Given the description of an element on the screen output the (x, y) to click on. 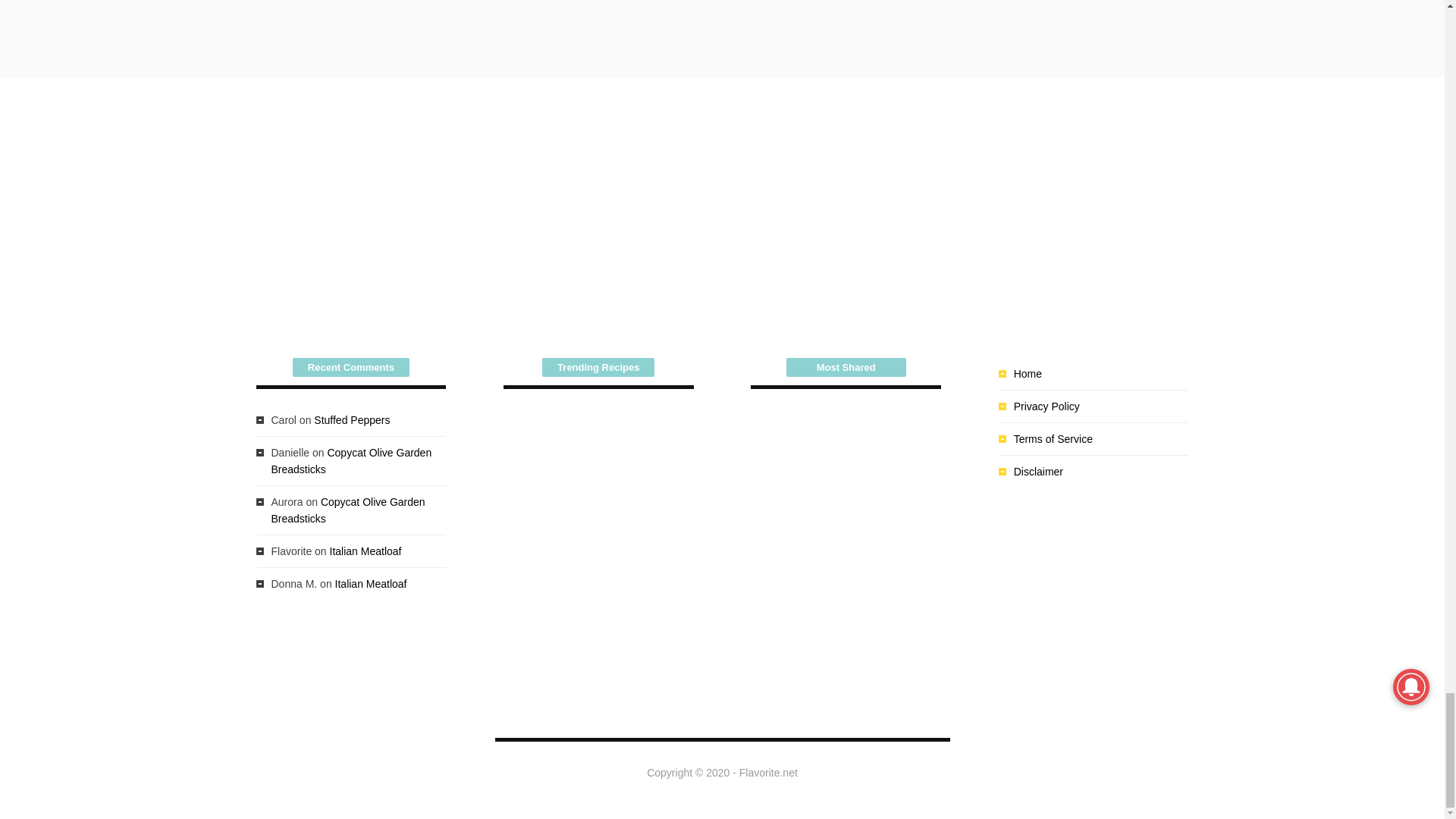
The Best Banana Pudding Ever (646, 453)
Inside Out Truffle Cake (549, 453)
Copycat Claussen Kosher Dill Pickles (646, 553)
Poor Mans Prime Rib (549, 553)
